Given the description of an element on the screen output the (x, y) to click on. 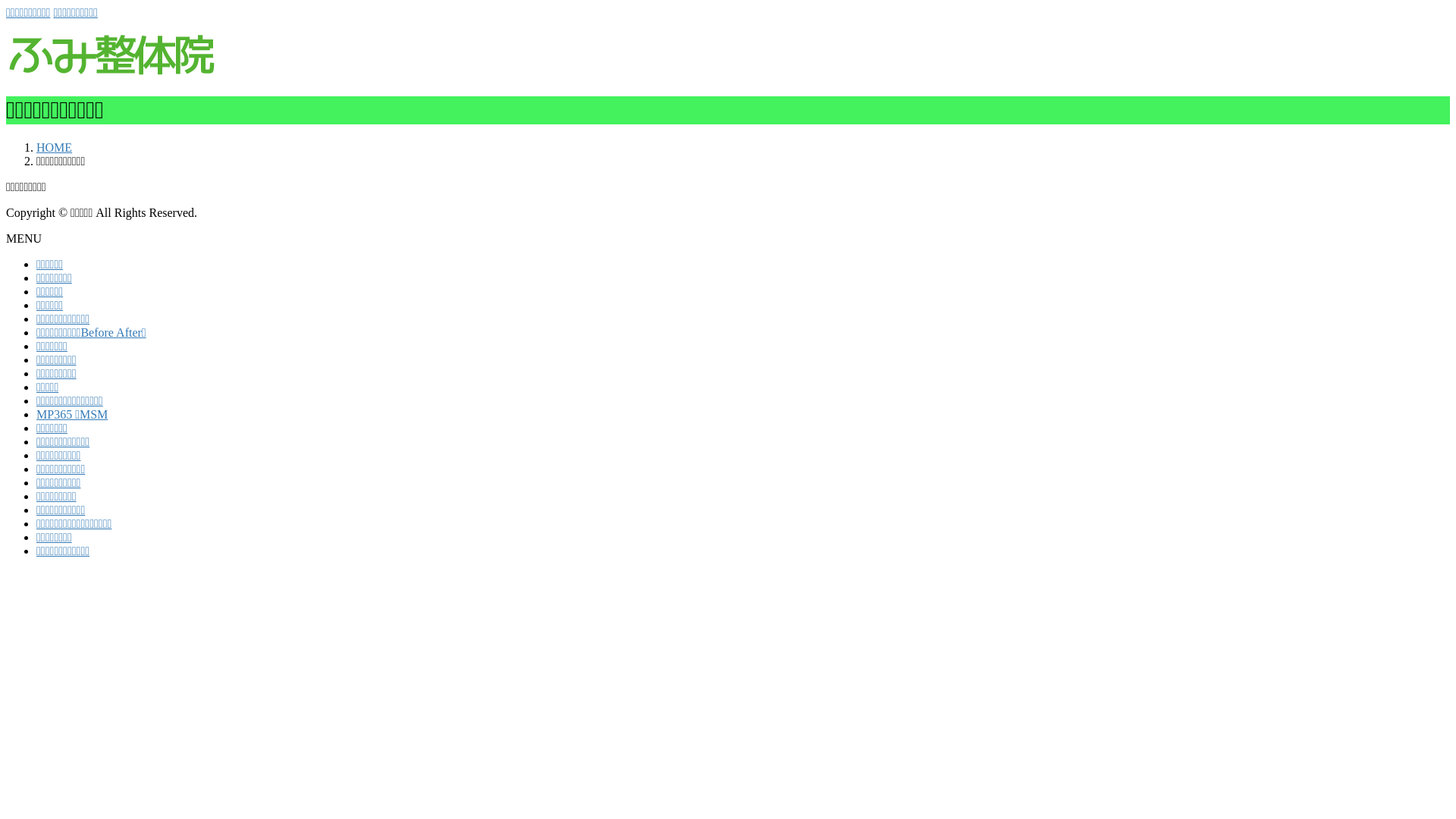
HOME Element type: text (54, 147)
